Given the description of an element on the screen output the (x, y) to click on. 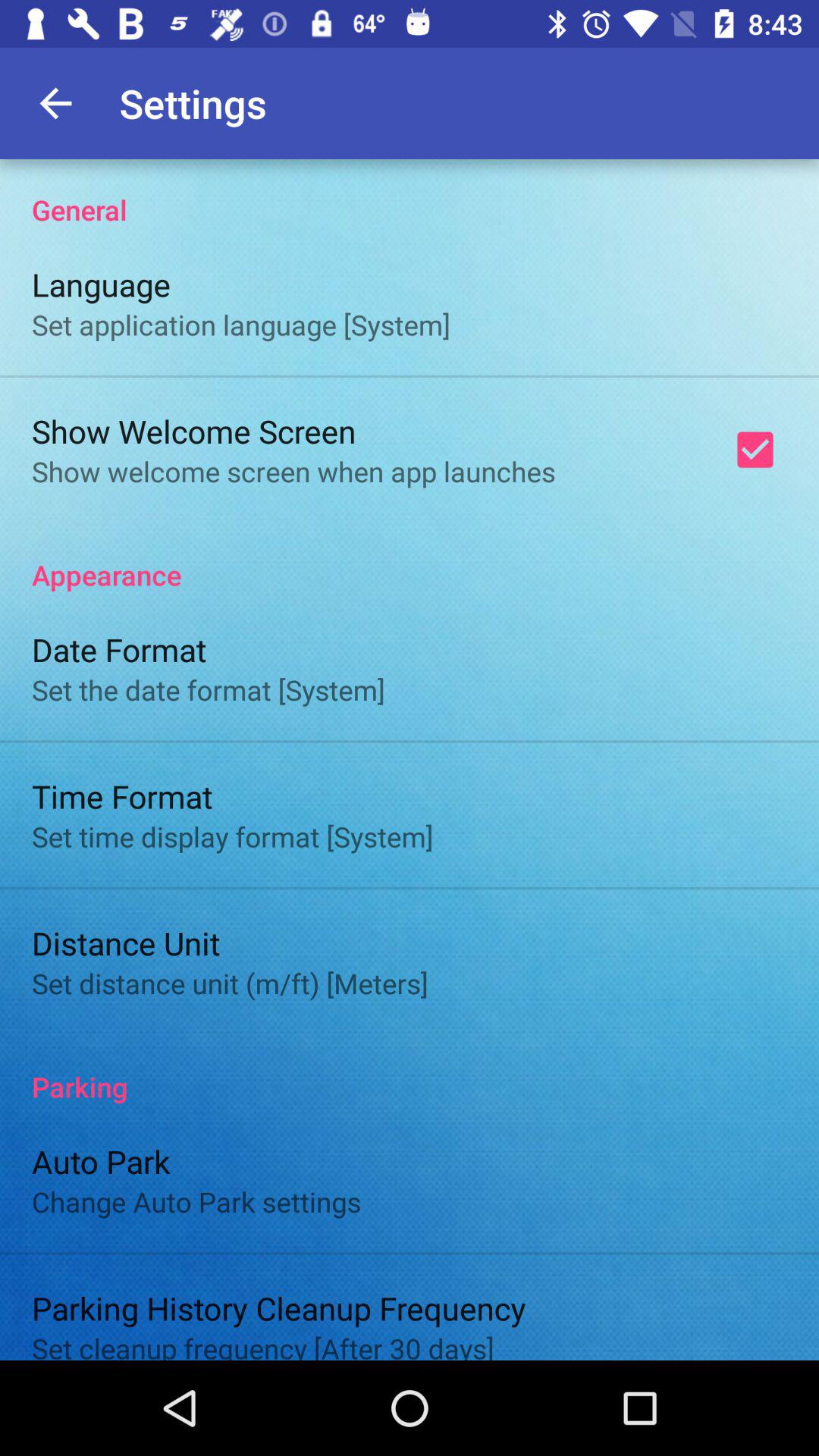
tap icon below change auto park (278, 1307)
